Given the description of an element on the screen output the (x, y) to click on. 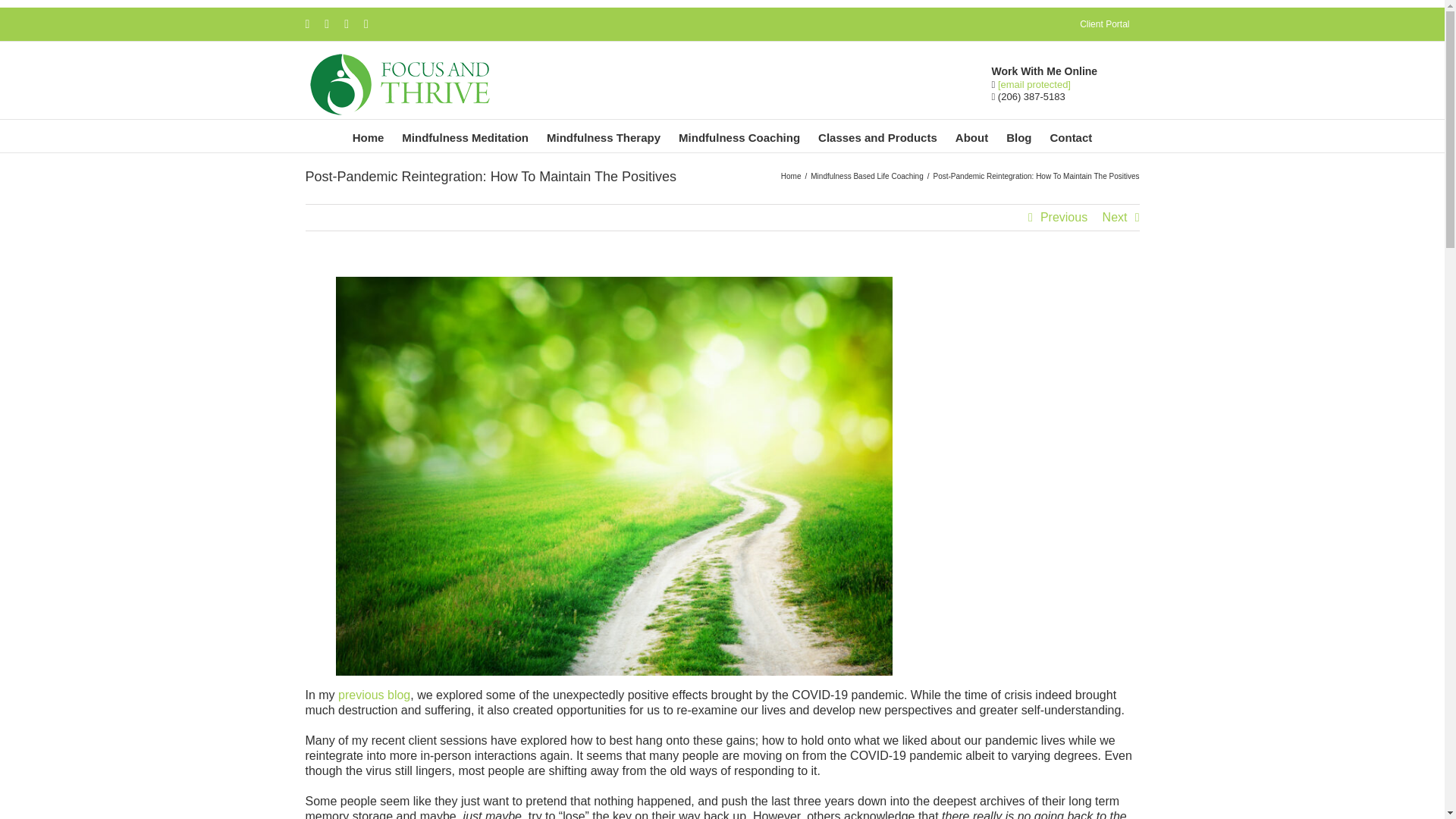
Client Portal (1104, 23)
Mindfulness Therapy (603, 135)
Contact (1070, 135)
Blog (1019, 135)
Home (368, 135)
Mindfulness Meditation (464, 135)
Mindfulness Coaching (739, 135)
Classes and Products (876, 135)
About (971, 135)
